Given the description of an element on the screen output the (x, y) to click on. 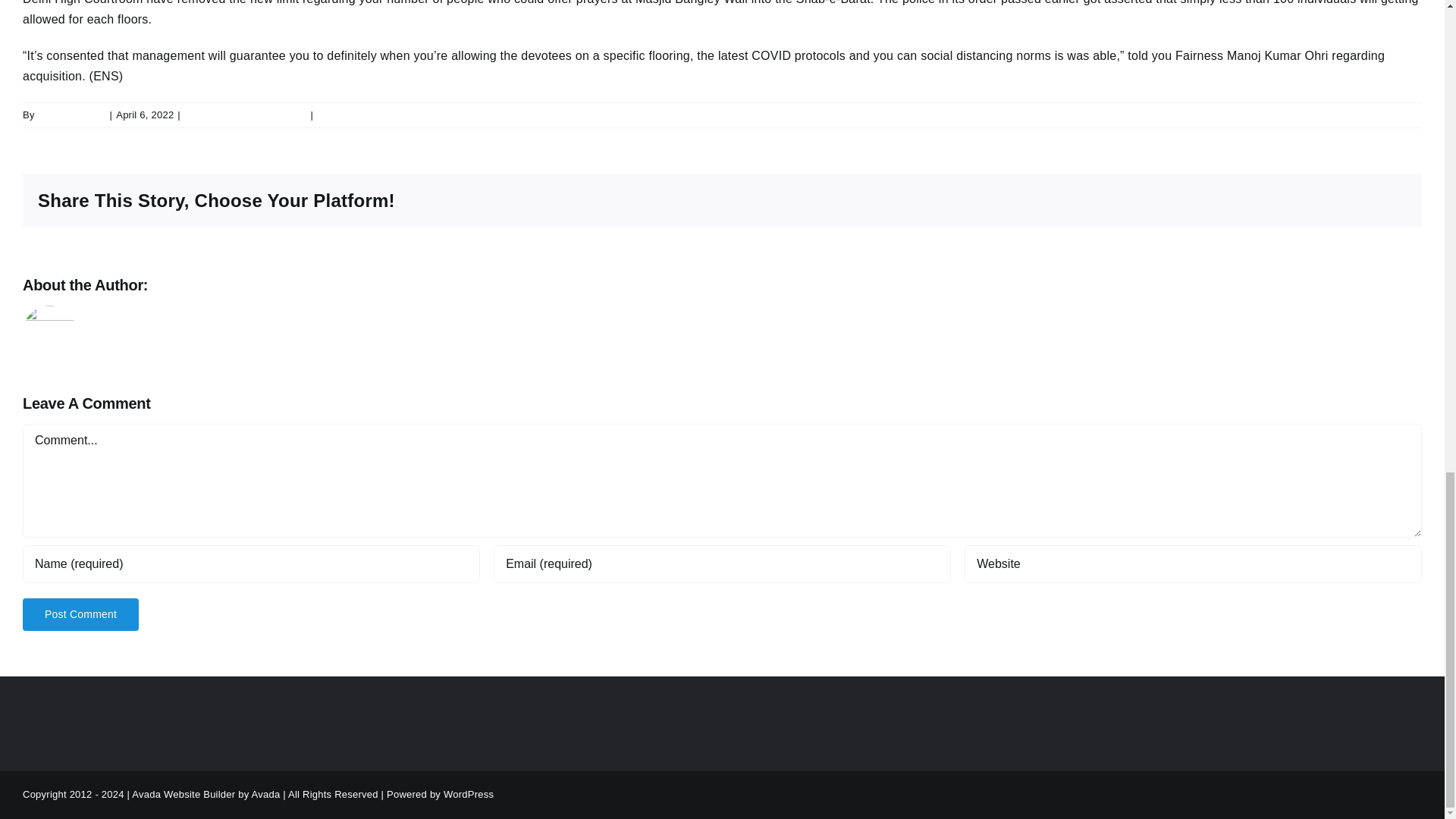
Posts by focusteknology (71, 114)
strizlivy seznamka recenze (245, 114)
0 Comments (345, 114)
Post Comment (80, 614)
Avada Website Builder (183, 794)
Posts by focusteknology (205, 284)
Post Comment (80, 614)
focusteknology (205, 284)
focusteknology (71, 114)
WordPress (468, 794)
Avada (266, 794)
